Given the description of an element on the screen output the (x, y) to click on. 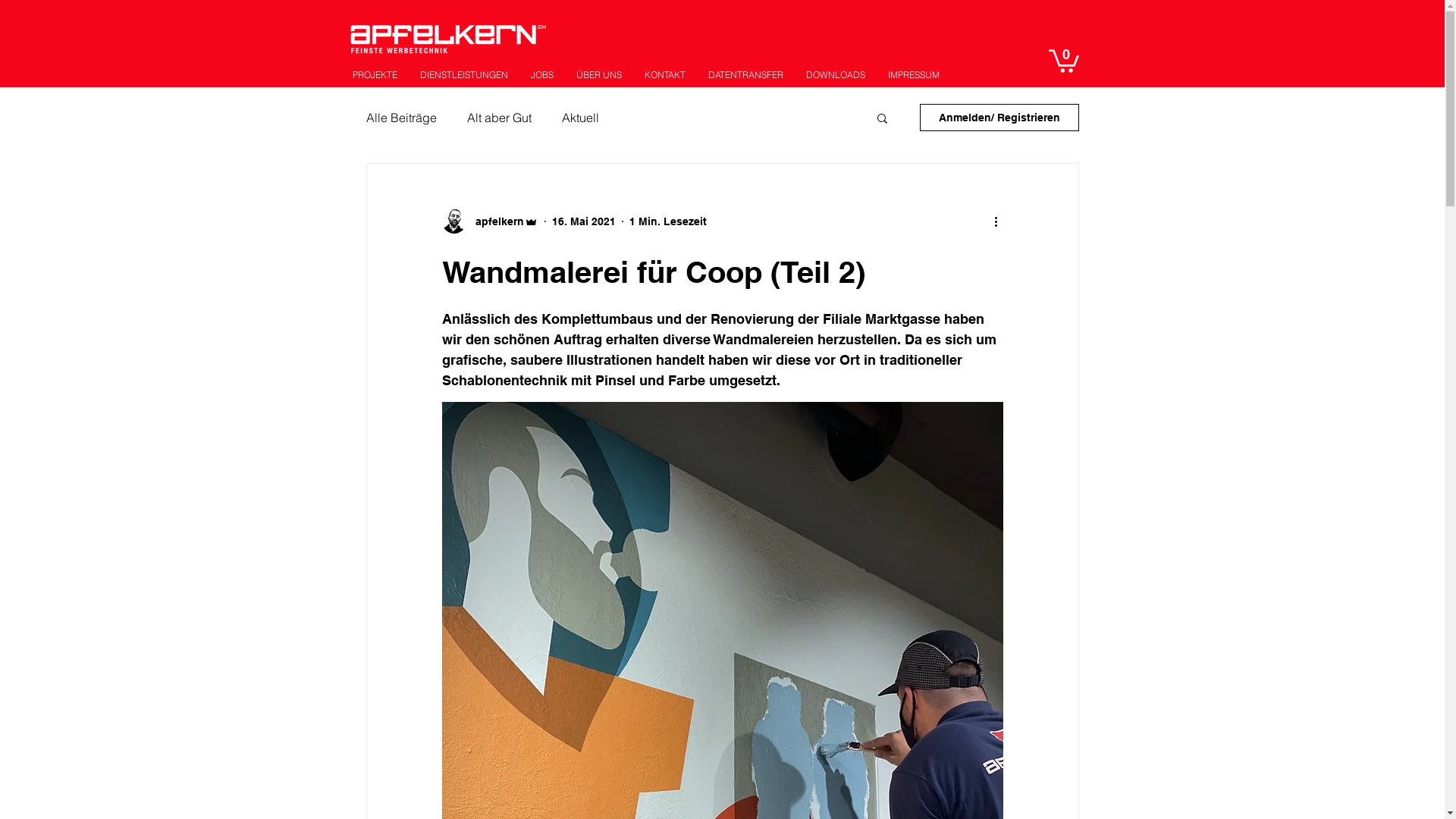
DATENTRANSFER Element type: text (744, 74)
IMPRESSUM Element type: text (913, 74)
PROJEKTE Element type: text (374, 74)
0 Element type: text (1063, 59)
Anmelden/ Registrieren Element type: text (998, 117)
DOWNLOADS Element type: text (835, 74)
Aktuell Element type: text (579, 117)
KONTAKT Element type: text (664, 74)
Alt aber Gut Element type: text (499, 117)
DIENSTLEISTUNGEN Element type: text (462, 74)
JOBS Element type: text (541, 74)
